Given the description of an element on the screen output the (x, y) to click on. 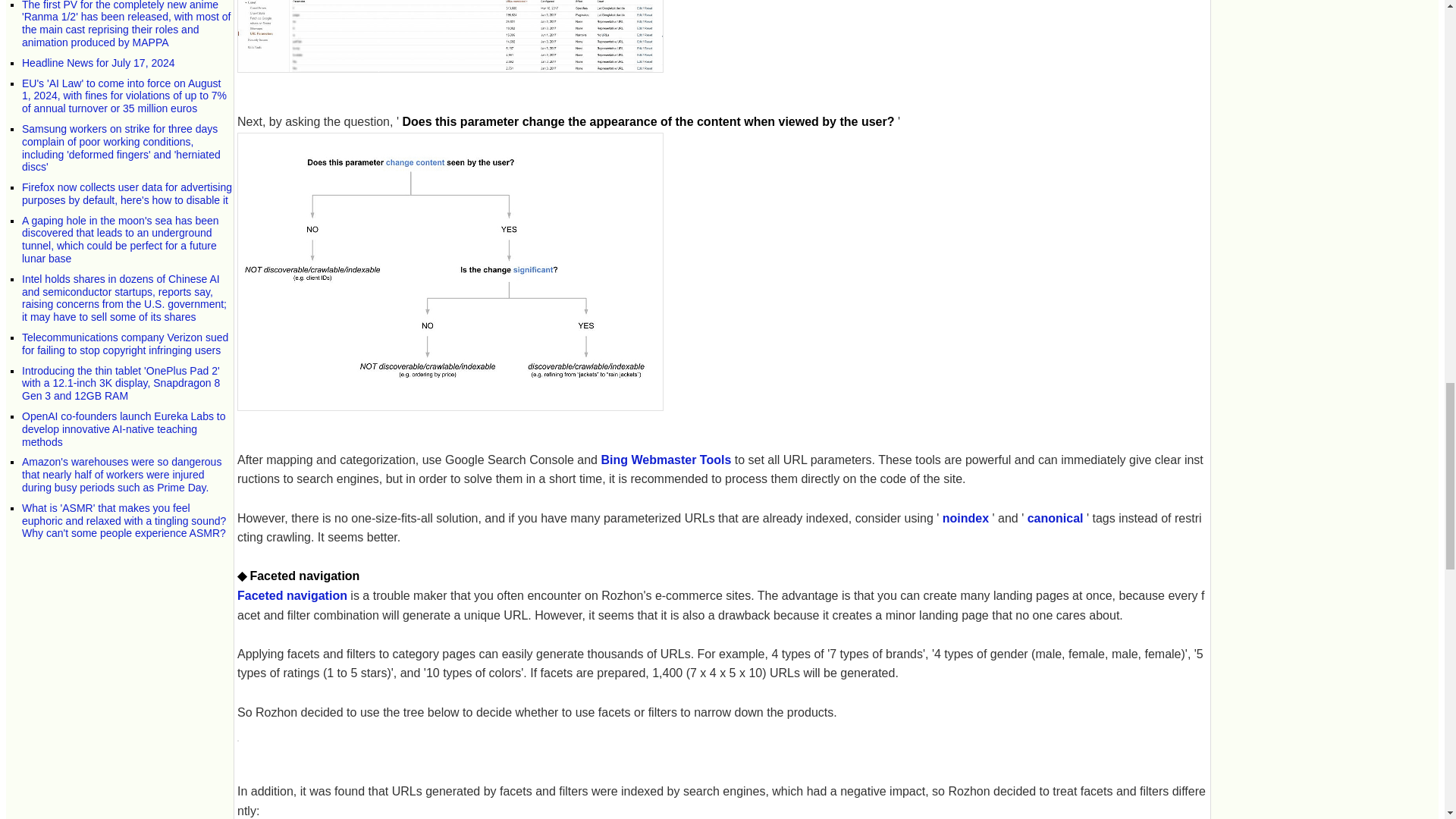
Bing Webmaster Tools (664, 459)
noindex (965, 517)
Faceted navigation (292, 594)
canonical (1055, 517)
